Given the description of an element on the screen output the (x, y) to click on. 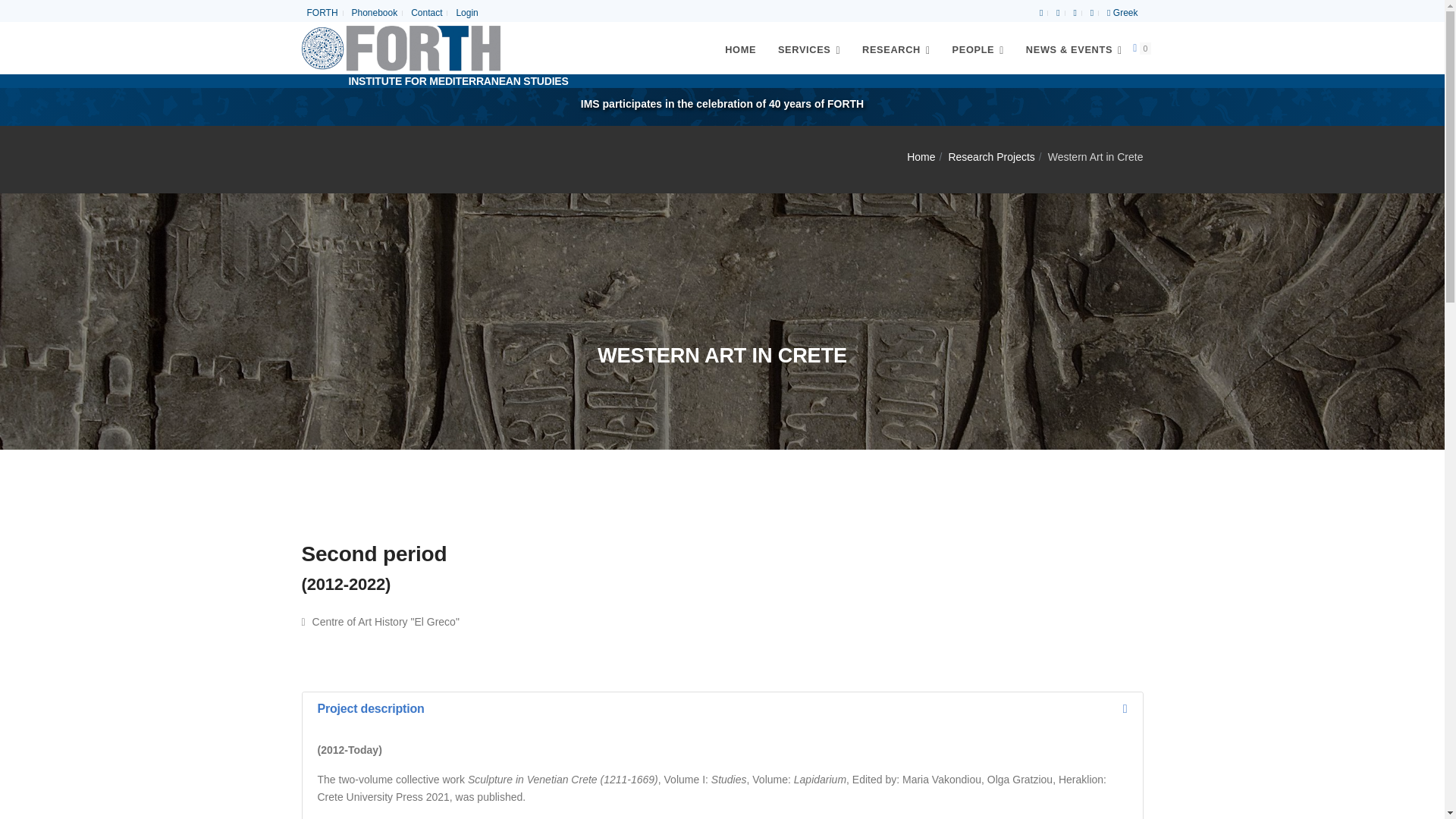
Go back to the home page (400, 48)
Contact (426, 13)
Phonebook (374, 13)
Login (466, 13)
RESEARCH (895, 47)
HOME (740, 49)
SERVICES (809, 47)
Contact (426, 13)
Greek (1121, 13)
Switch to Greek (1121, 13)
Phonebook (374, 13)
FORTH (321, 13)
